Given the description of an element on the screen output the (x, y) to click on. 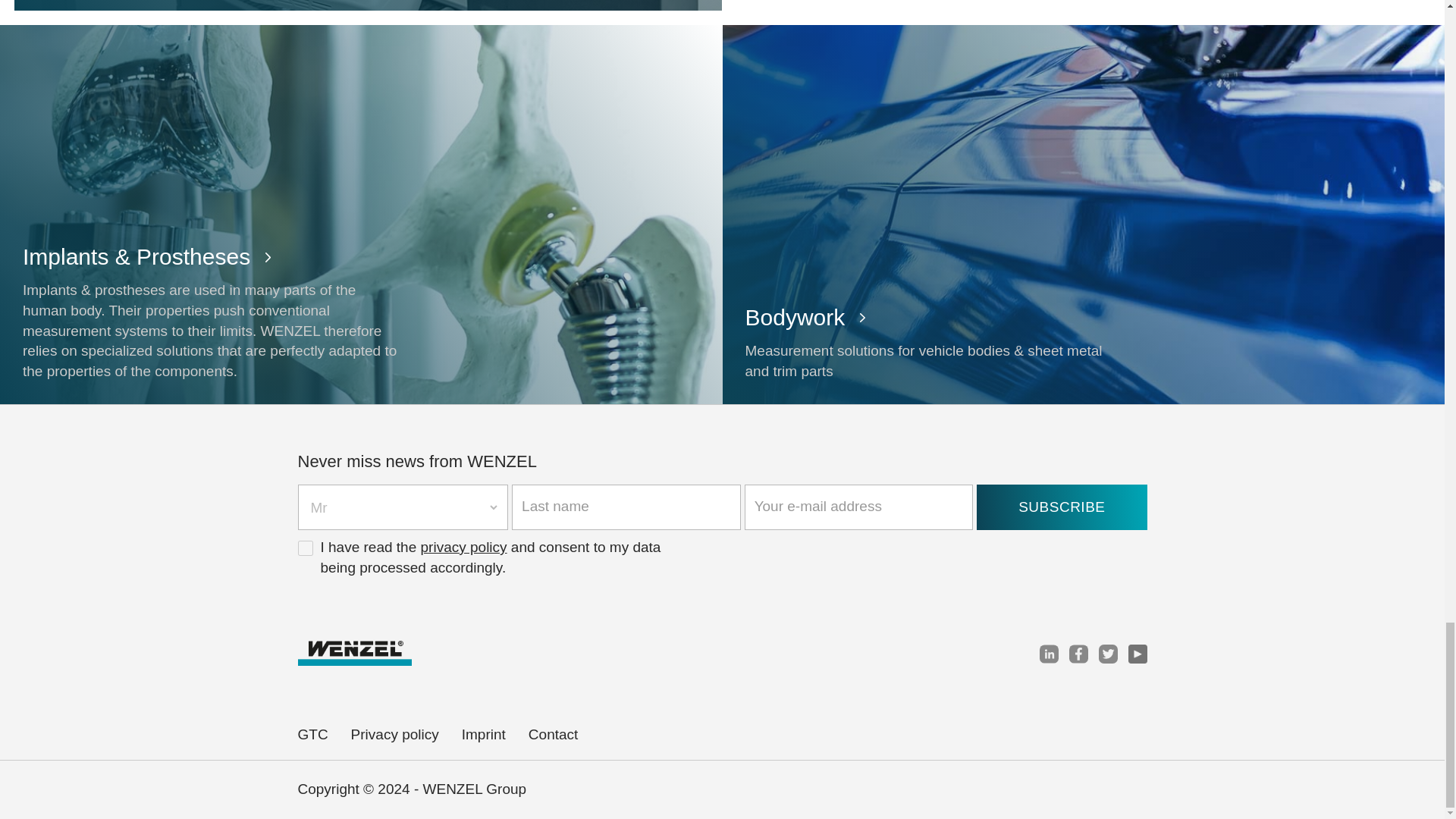
on (305, 548)
Subscribe (1061, 506)
